Given the description of an element on the screen output the (x, y) to click on. 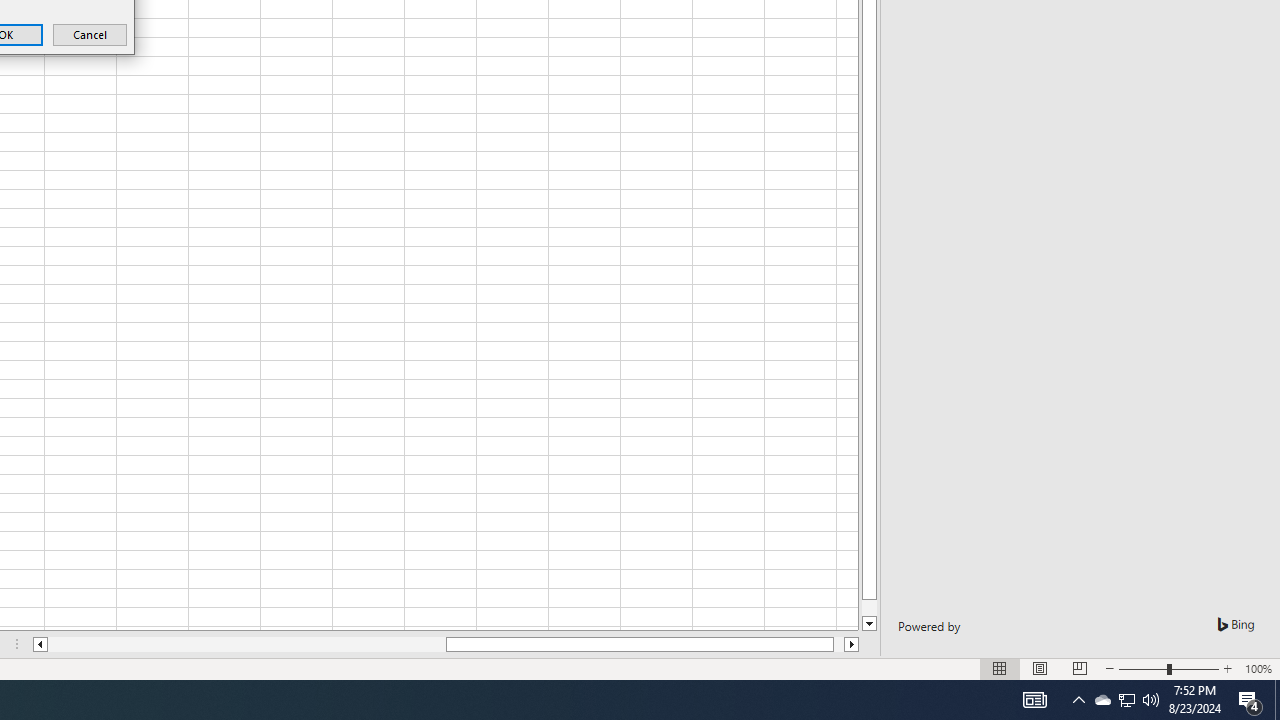
Page left (246, 644)
AutomationID: 4105 (1126, 699)
Q2790: 100% (1034, 699)
Action Center, 4 new notifications (1151, 699)
Show desktop (1250, 699)
Page down (1277, 699)
